Given the description of an element on the screen output the (x, y) to click on. 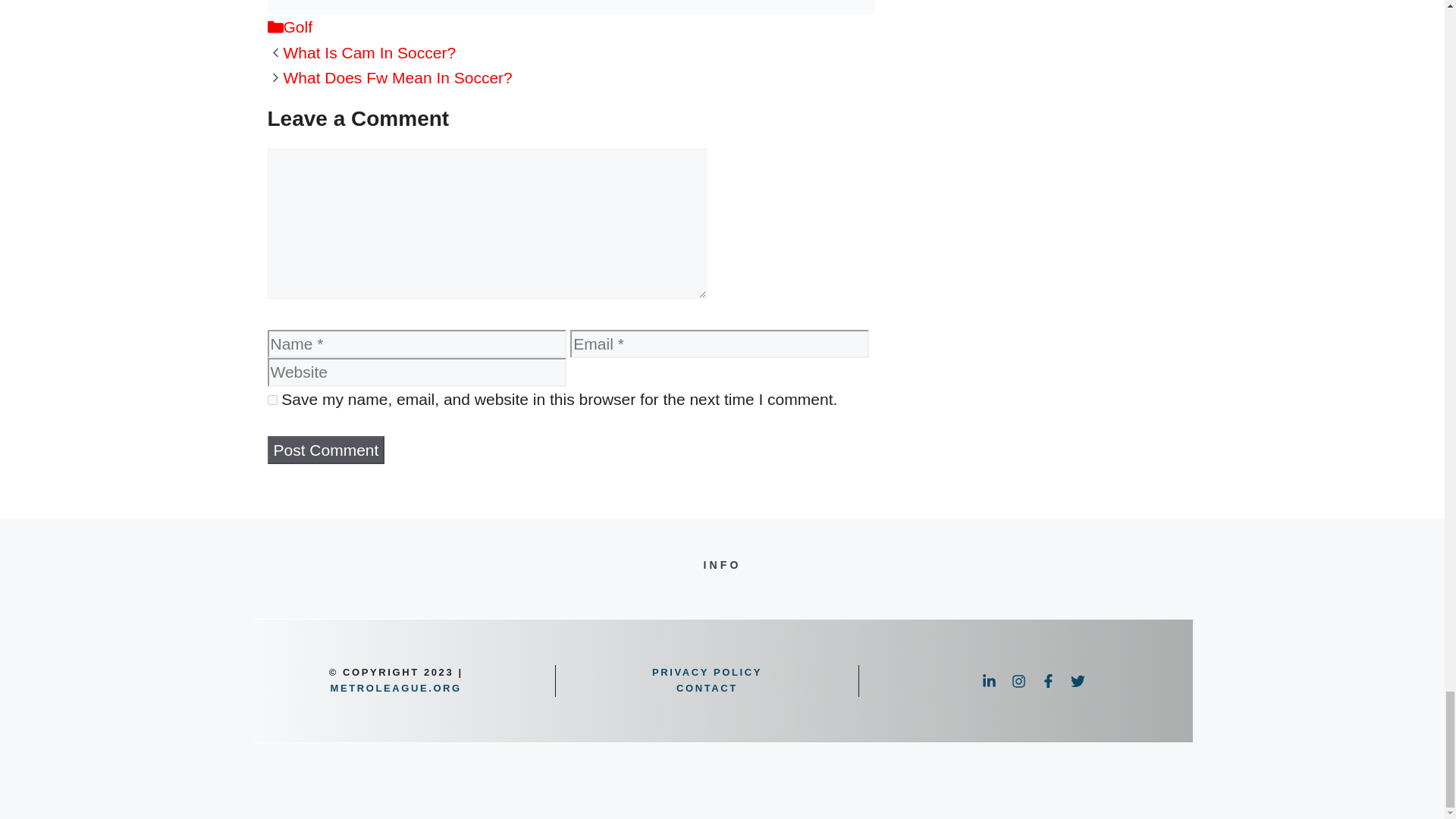
Post Comment (325, 450)
What Does Fw Mean In Soccer? (397, 77)
What Is Cam In Soccer? (370, 52)
yes (271, 399)
Golf (298, 27)
Post Comment (325, 450)
Categories (274, 27)
